Given the description of an element on the screen output the (x, y) to click on. 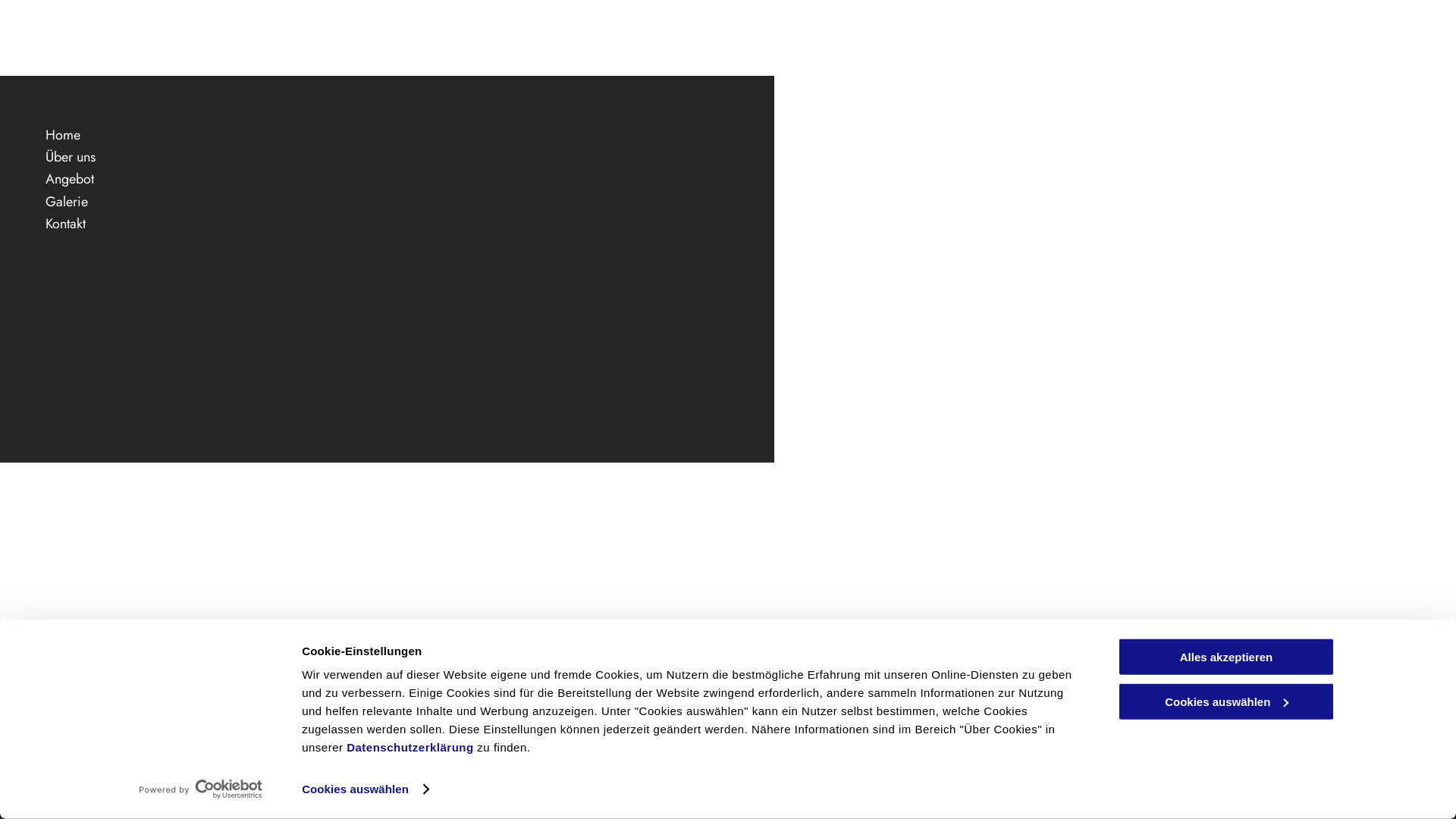
Kontakt Element type: text (386, 224)
Black & White Element type: text (454, 718)
Home Element type: text (386, 135)
Angebot Element type: text (386, 179)
Alles akzeptieren Element type: text (1225, 656)
Galerie Element type: text (386, 202)
